Given the description of an element on the screen output the (x, y) to click on. 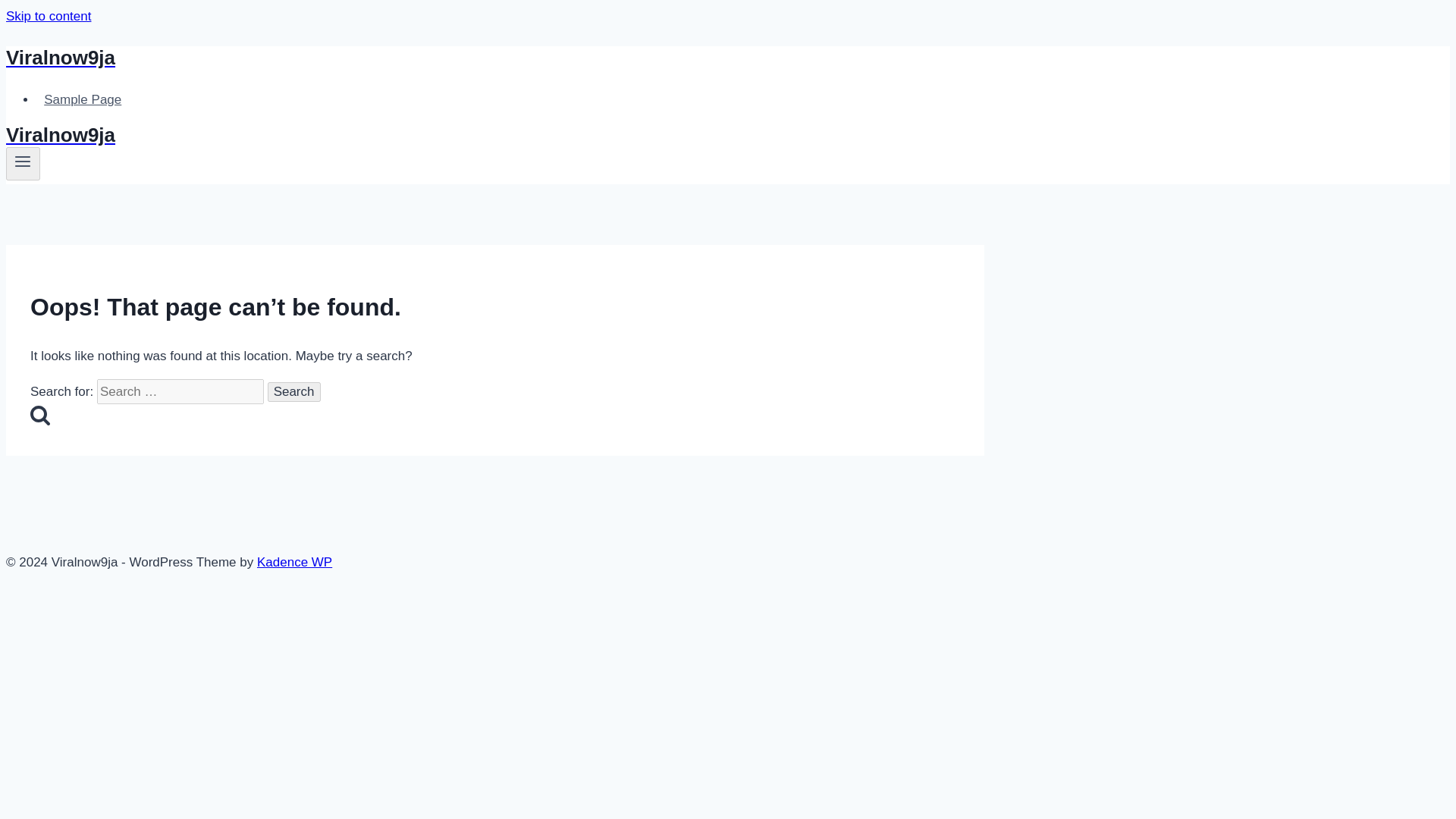
Skip to content (47, 16)
Skip to content (47, 16)
Search (293, 392)
Viralnow9ja (494, 57)
Kadence WP (294, 562)
Toggle Menu (22, 163)
Search (293, 392)
Toggle Menu (22, 161)
Sample Page (82, 99)
Search (293, 392)
